Given the description of an element on the screen output the (x, y) to click on. 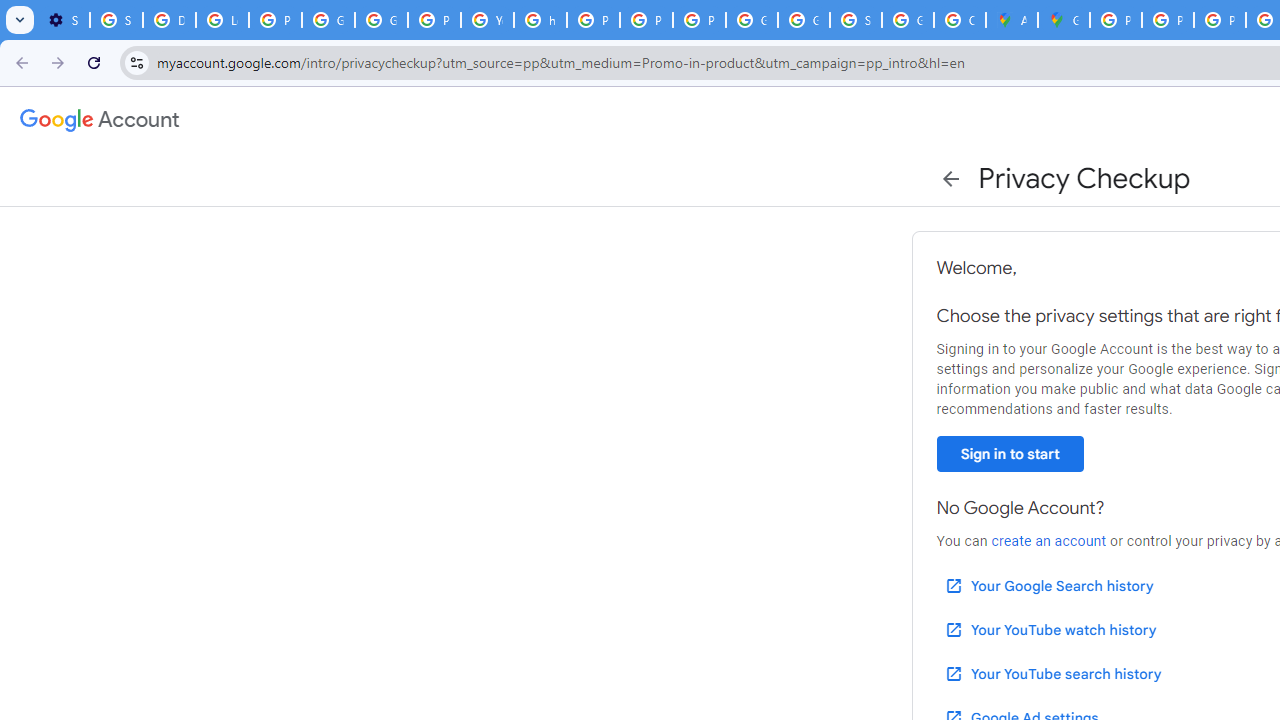
Privacy Help Center - Policies Help (1219, 20)
Sign in - Google Accounts (855, 20)
Google Maps (1064, 20)
YouTube (487, 20)
create an account (1048, 541)
Google Account settings (100, 120)
Privacy Help Center - Policies Help (1167, 20)
Your YouTube search history (1052, 673)
